Given the description of an element on the screen output the (x, y) to click on. 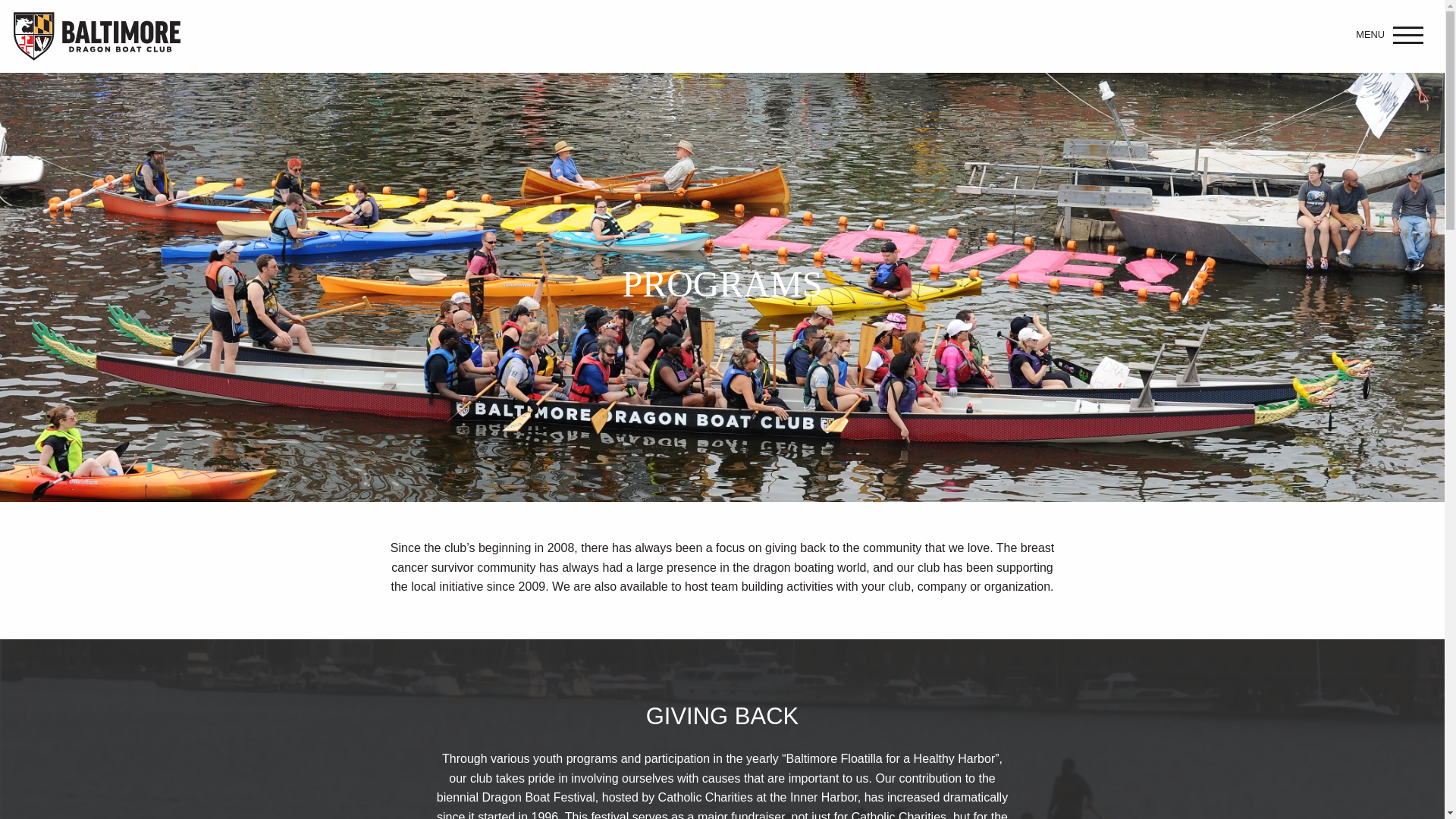
Baltimore Dragon Boat Club (96, 35)
